Given the description of an element on the screen output the (x, y) to click on. 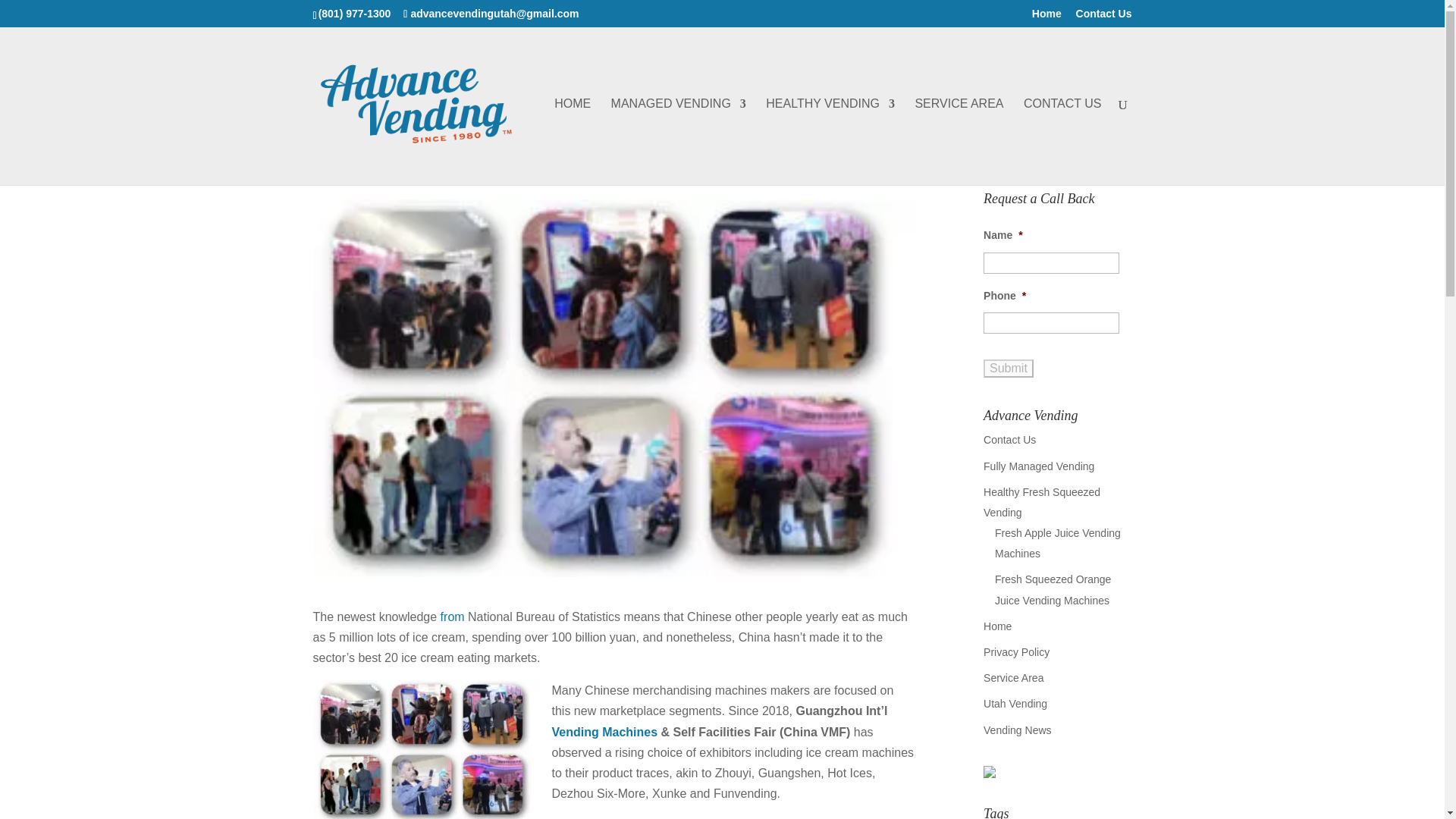
Submit (1008, 368)
Contact Us (1103, 16)
MANAGED VENDING (678, 141)
Home (997, 625)
Fresh Apple Juice Vending Machines (1057, 543)
Vending Machines (604, 731)
CONTACT US (1062, 141)
Healthy Fresh Squeezed Vending (1042, 502)
HEALTHY VENDING (830, 141)
Contact Us (1009, 439)
